Given the description of an element on the screen output the (x, y) to click on. 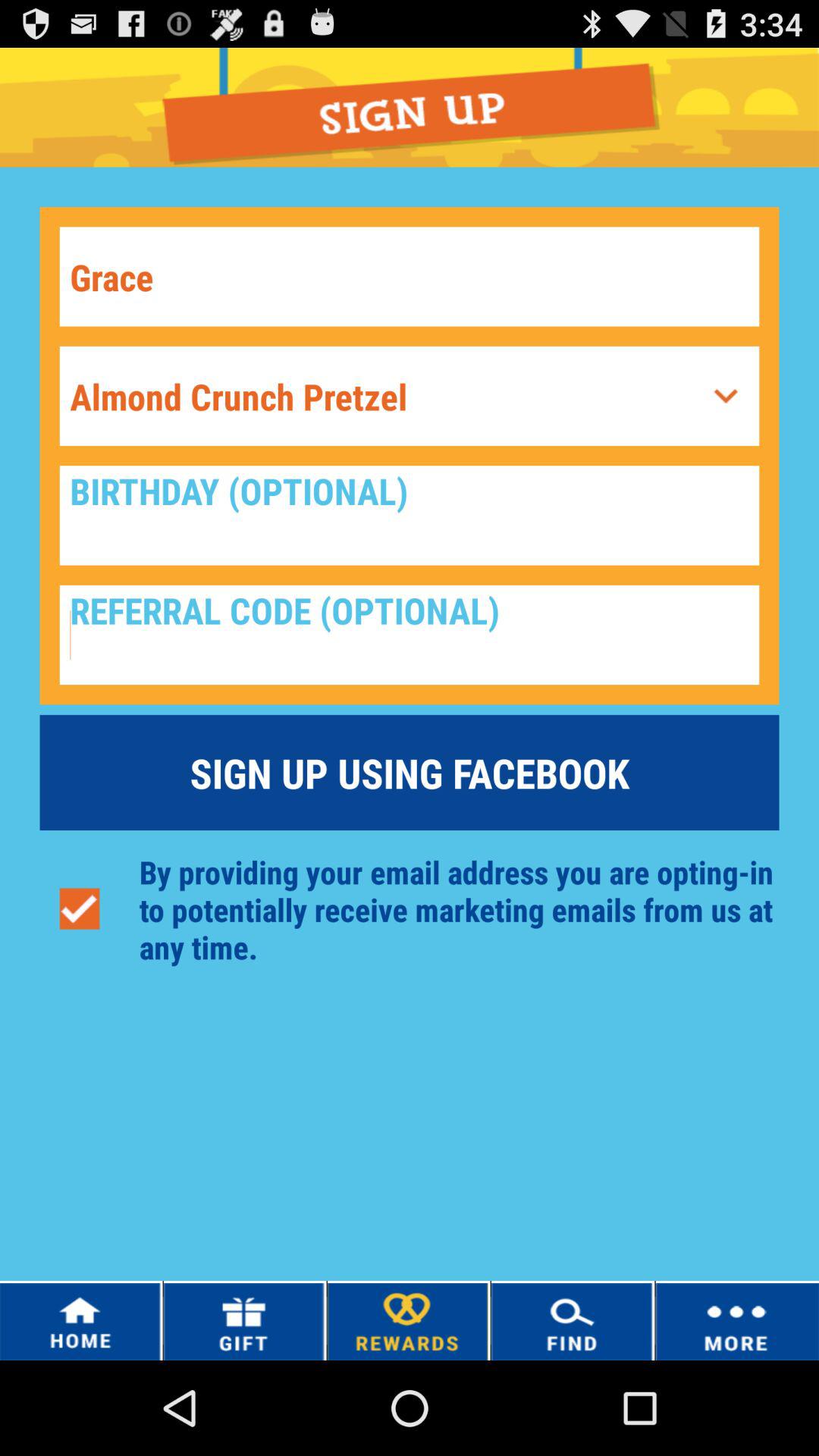
accept marketing emails (79, 909)
